Given the description of an element on the screen output the (x, y) to click on. 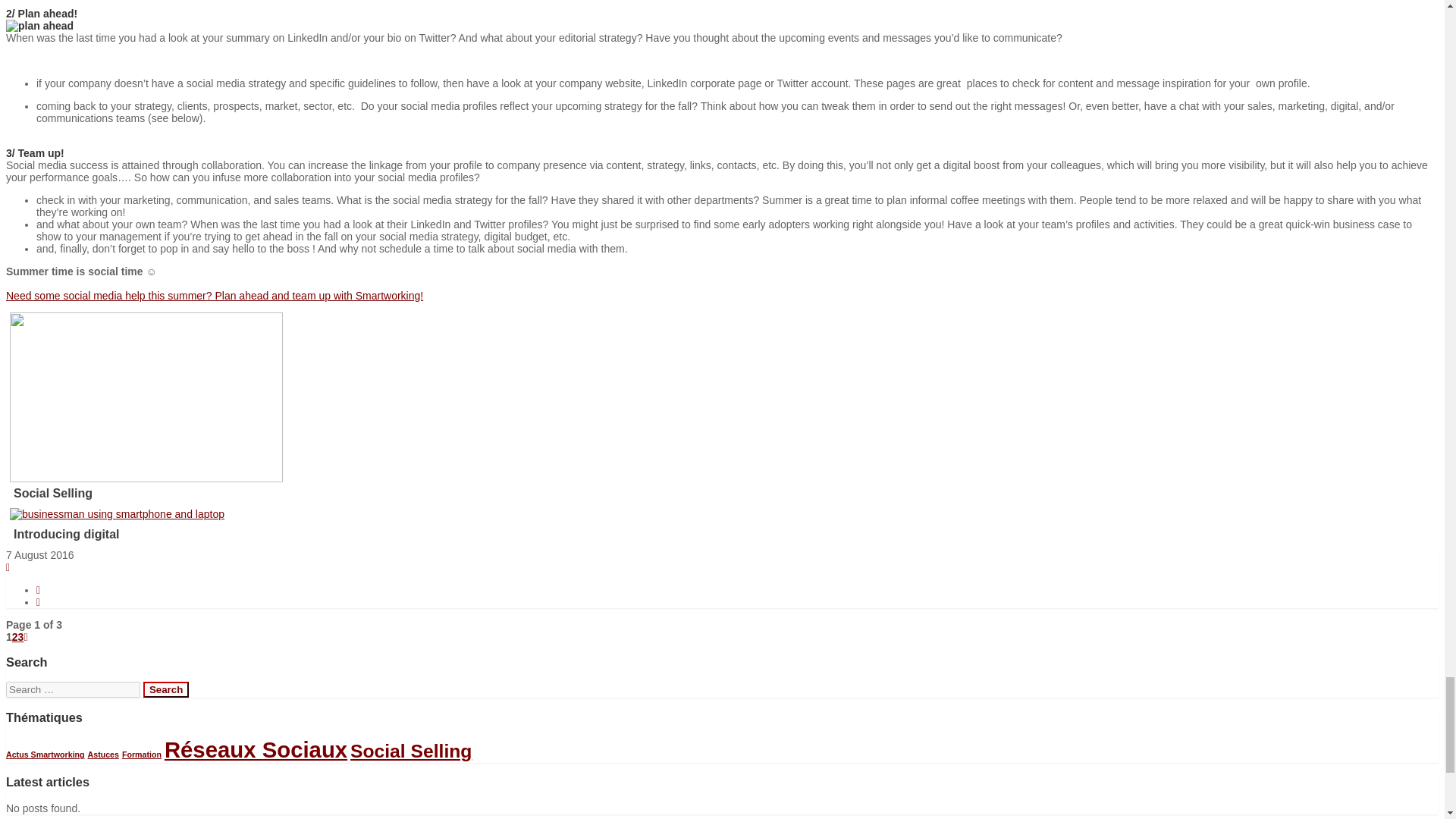
Search (165, 689)
Search (165, 689)
